Given the description of an element on the screen output the (x, y) to click on. 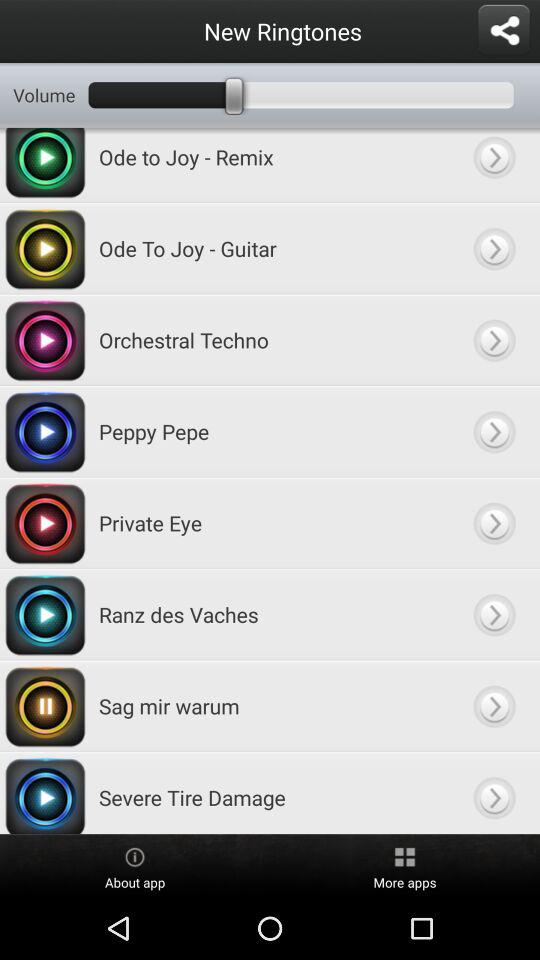
go to next (494, 522)
